Given the description of an element on the screen output the (x, y) to click on. 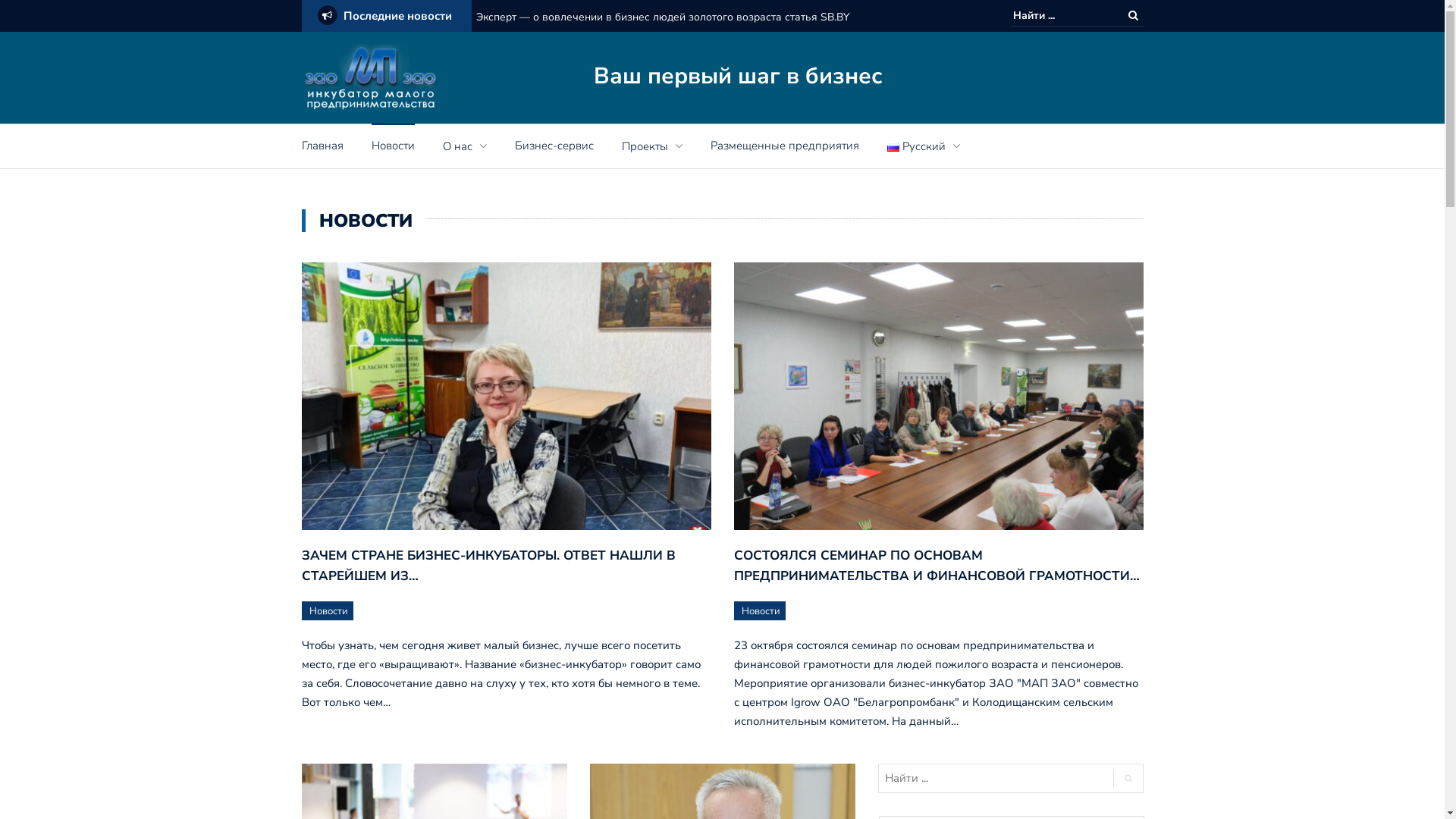
Search   Element type: text (1132, 15)
Search   Element type: text (1127, 778)
